Given the description of an element on the screen output the (x, y) to click on. 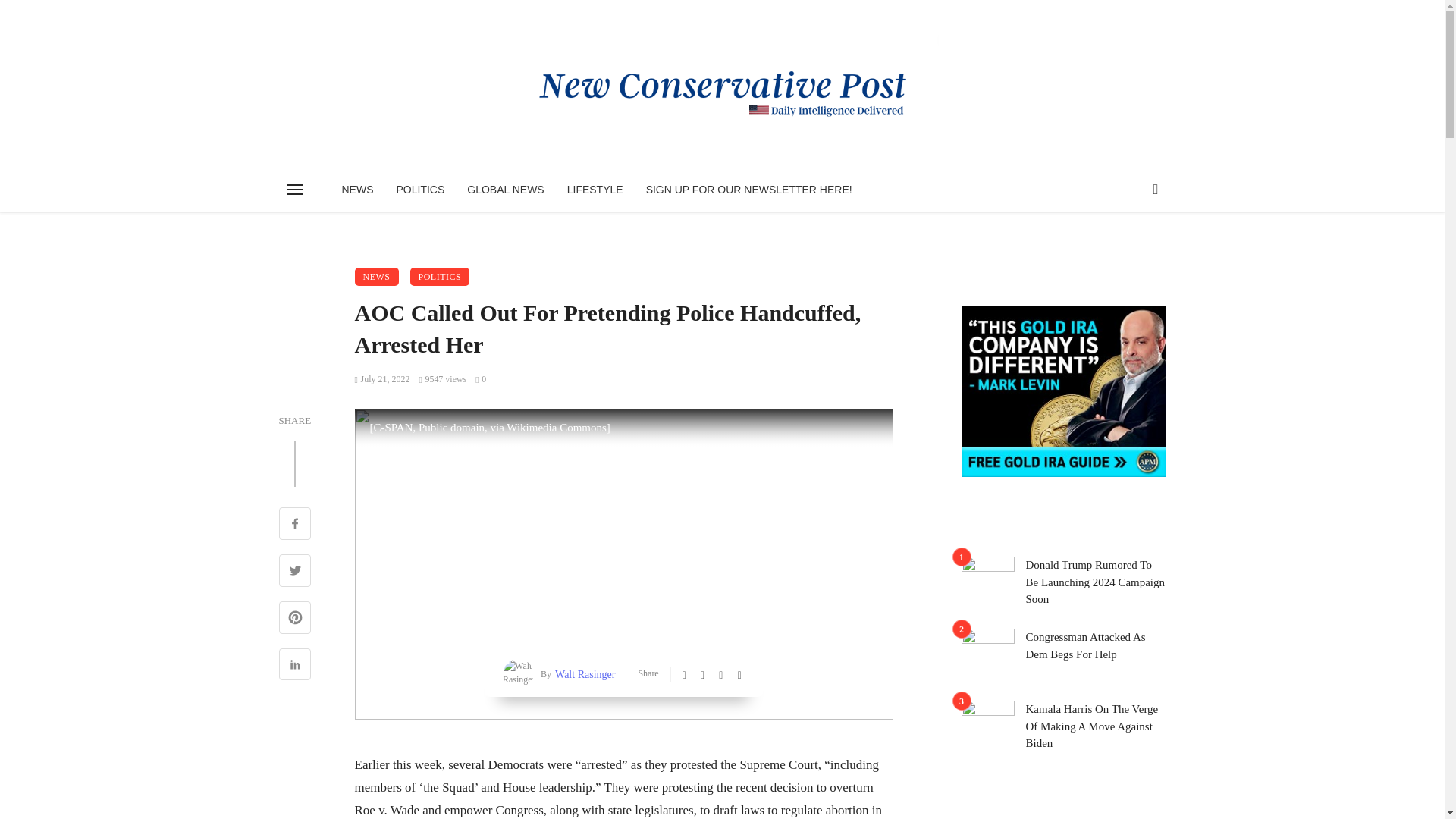
Posts by Walt Rasinger (582, 674)
0 (481, 378)
LIFESTYLE (595, 189)
SIGN UP FOR OUR NEWSLETTER HERE! (748, 189)
Share on Facebook (295, 524)
NEWS (376, 276)
POLITICS (421, 189)
Share on Pinterest (295, 619)
0 Comments (481, 378)
Walt Rasinger (582, 674)
